Given the description of an element on the screen output the (x, y) to click on. 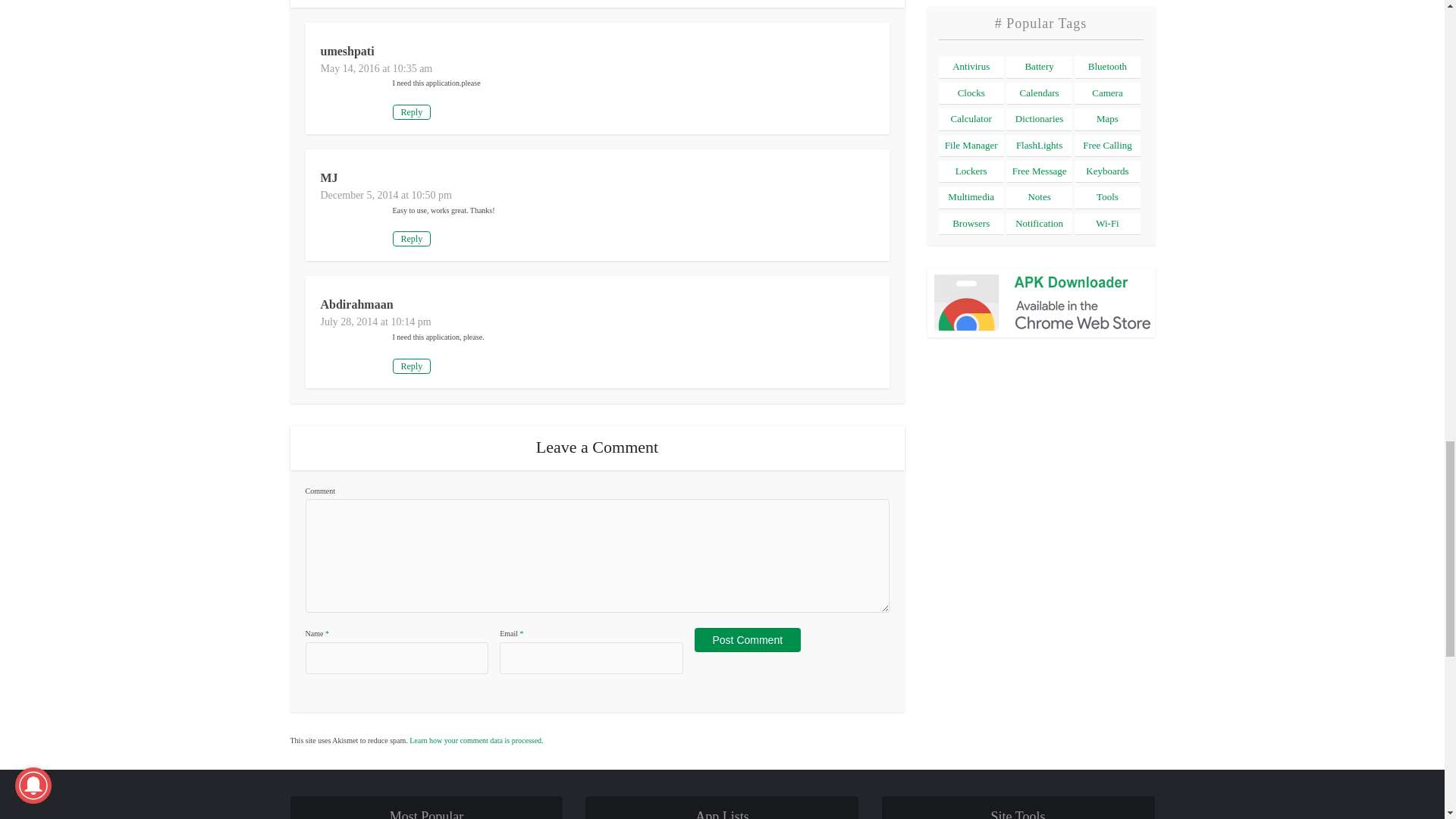
Learn how your comment data is processed (475, 740)
May 14, 2016 at 10:35 am (376, 68)
Reply (411, 111)
Reply (411, 365)
Post Comment (747, 639)
December 5, 2014 at 10:50 pm (385, 194)
Post Comment (747, 639)
July 28, 2014 at 10:14 pm (375, 321)
Reply (411, 238)
